Given the description of an element on the screen output the (x, y) to click on. 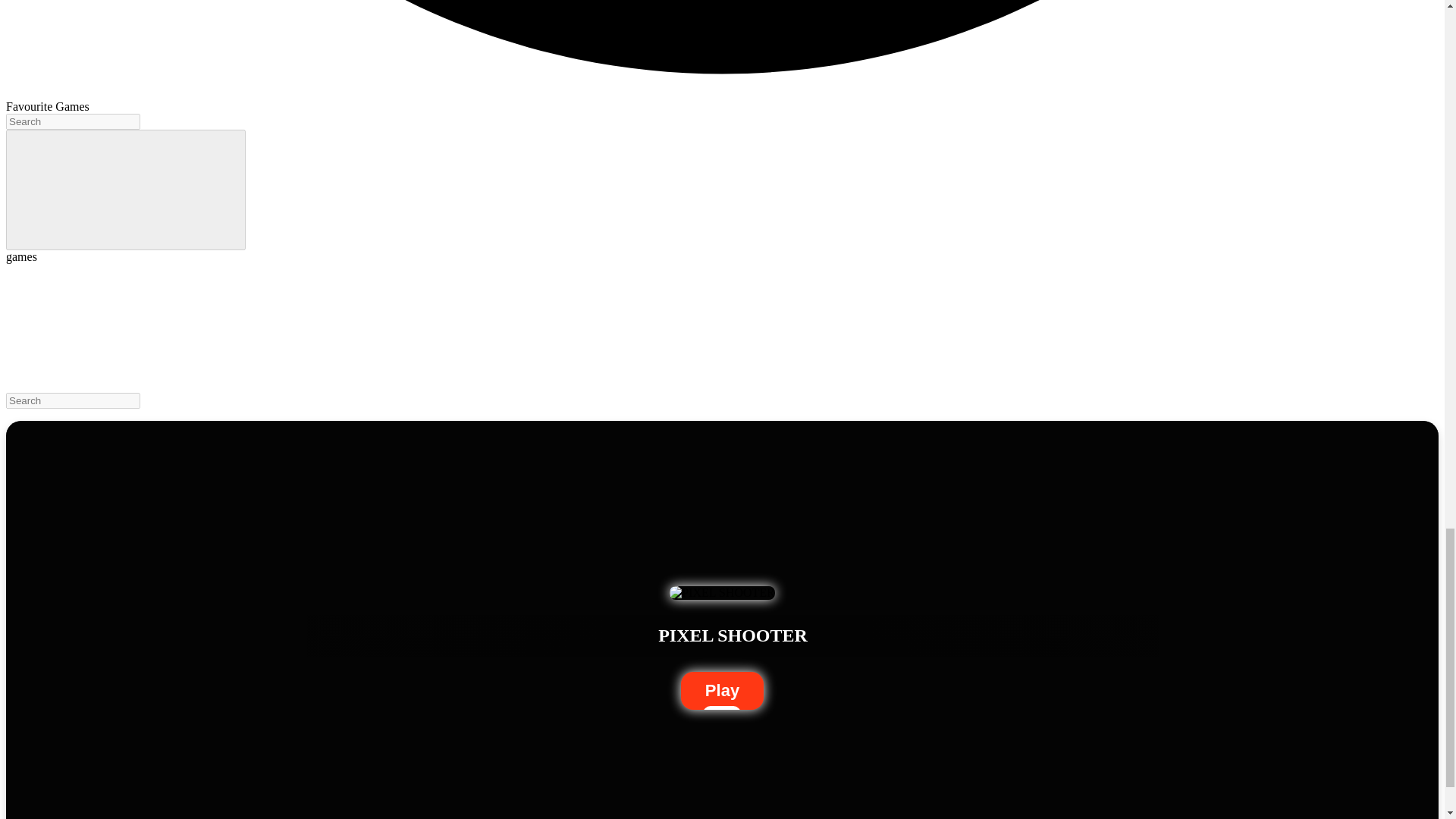
Play (721, 690)
